Given the description of an element on the screen output the (x, y) to click on. 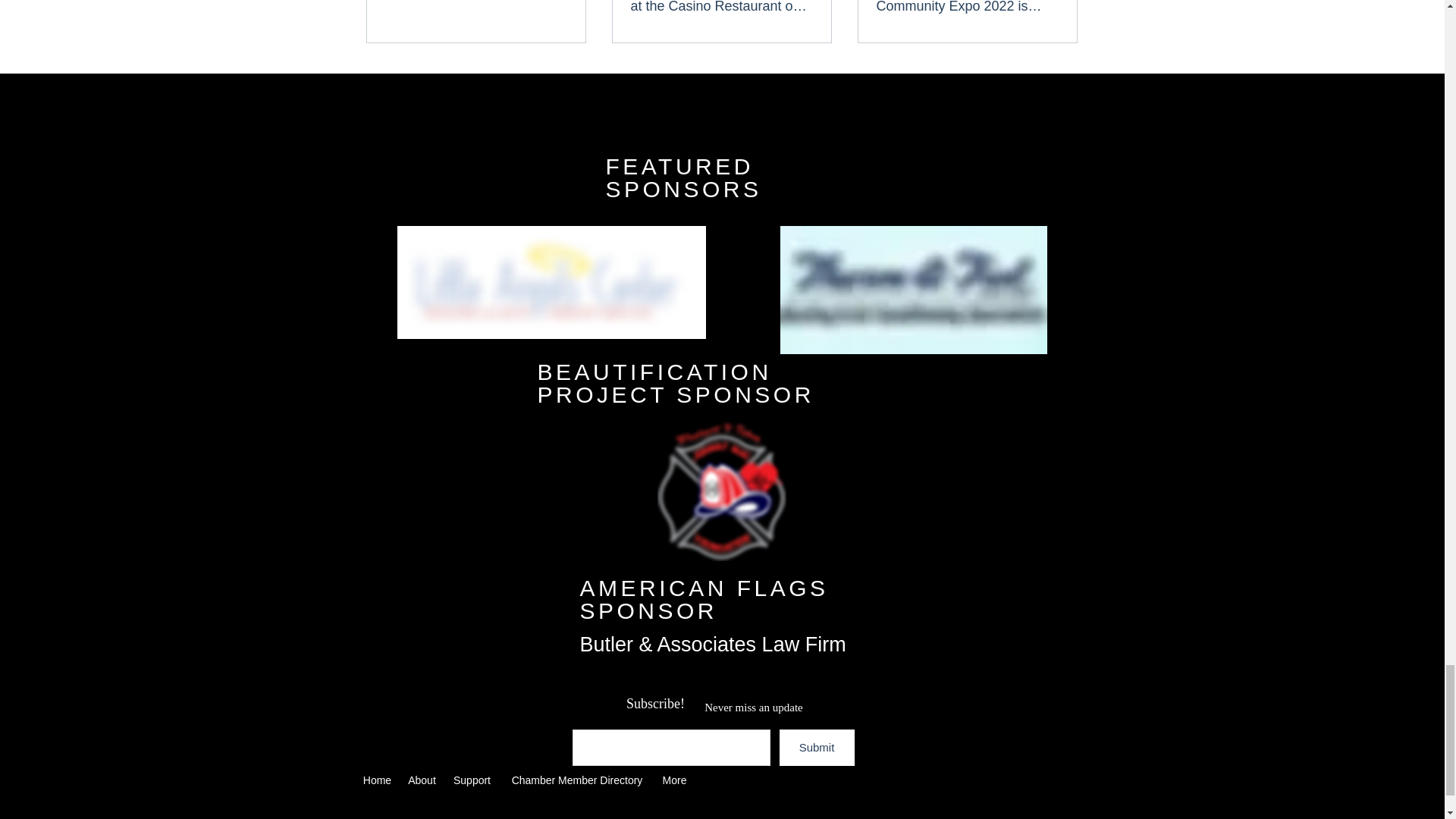
johnny mac foundation logo.png (721, 490)
